Given the description of an element on the screen output the (x, y) to click on. 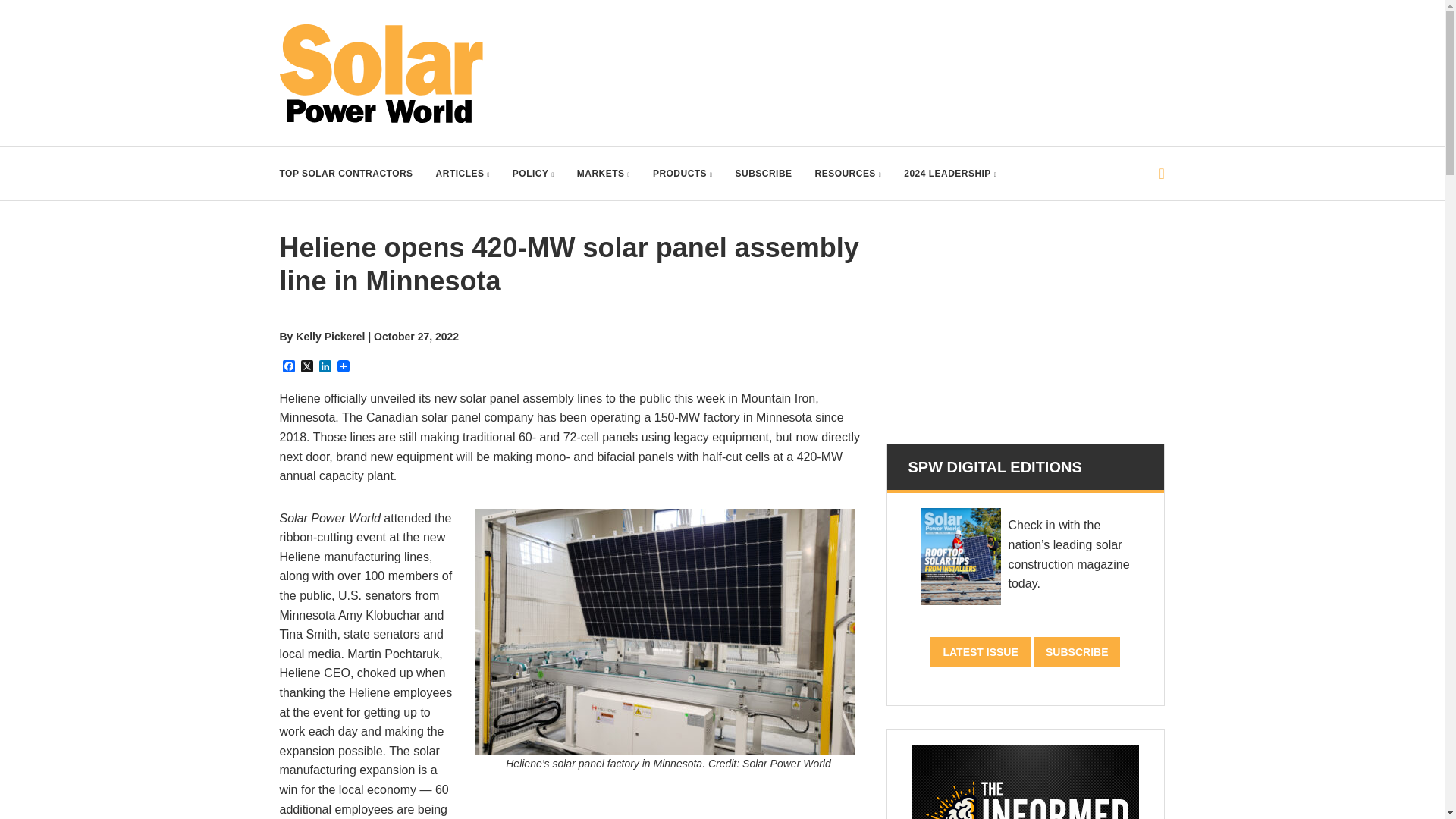
PRODUCTS (682, 173)
POLICY (533, 173)
TOP SOLAR CONTRACTORS (345, 173)
LinkedIn (324, 367)
3rd party ad content (888, 57)
3rd party ad content (1024, 325)
MARKETS (603, 173)
SUBSCRIBE (763, 173)
RESOURCES (848, 173)
X (306, 367)
Facebook (288, 367)
ARTICLES (462, 173)
Solar Power World (380, 73)
